Given the description of an element on the screen output the (x, y) to click on. 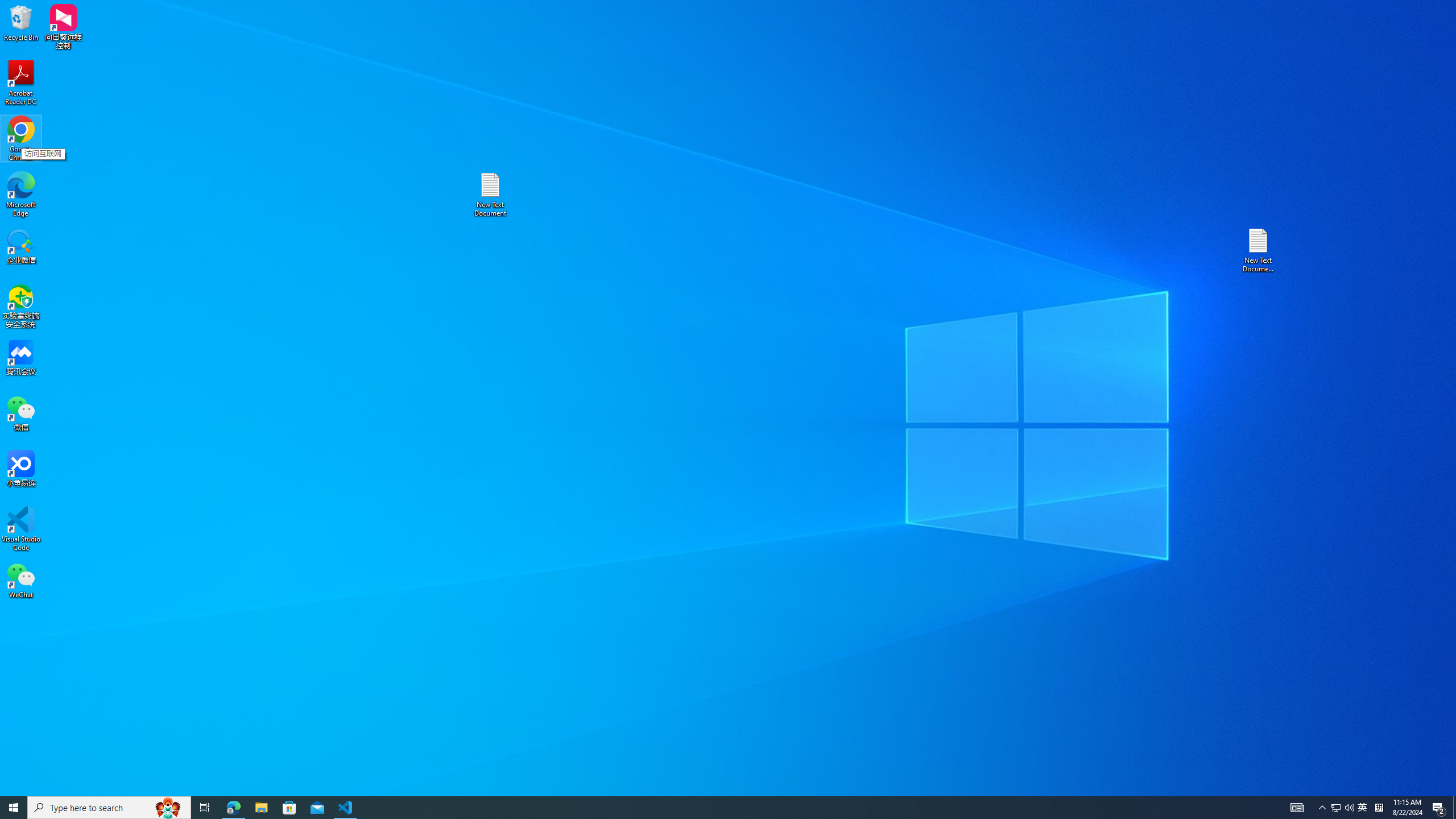
Microsoft Edge (21, 194)
User Promoted Notification Area (1342, 807)
Q2790: 100% (1349, 807)
Search highlights icon opens search home window (167, 807)
Notification Chevron (1322, 807)
File Explorer (261, 807)
WeChat (21, 580)
Microsoft Edge - 1 running window (233, 807)
Task View (204, 807)
Action Center, 2 new notifications (1439, 807)
Start (13, 807)
New Text Document (489, 194)
Tray Input Indicator - Chinese (Simplified, China) (1378, 807)
